Given the description of an element on the screen output the (x, y) to click on. 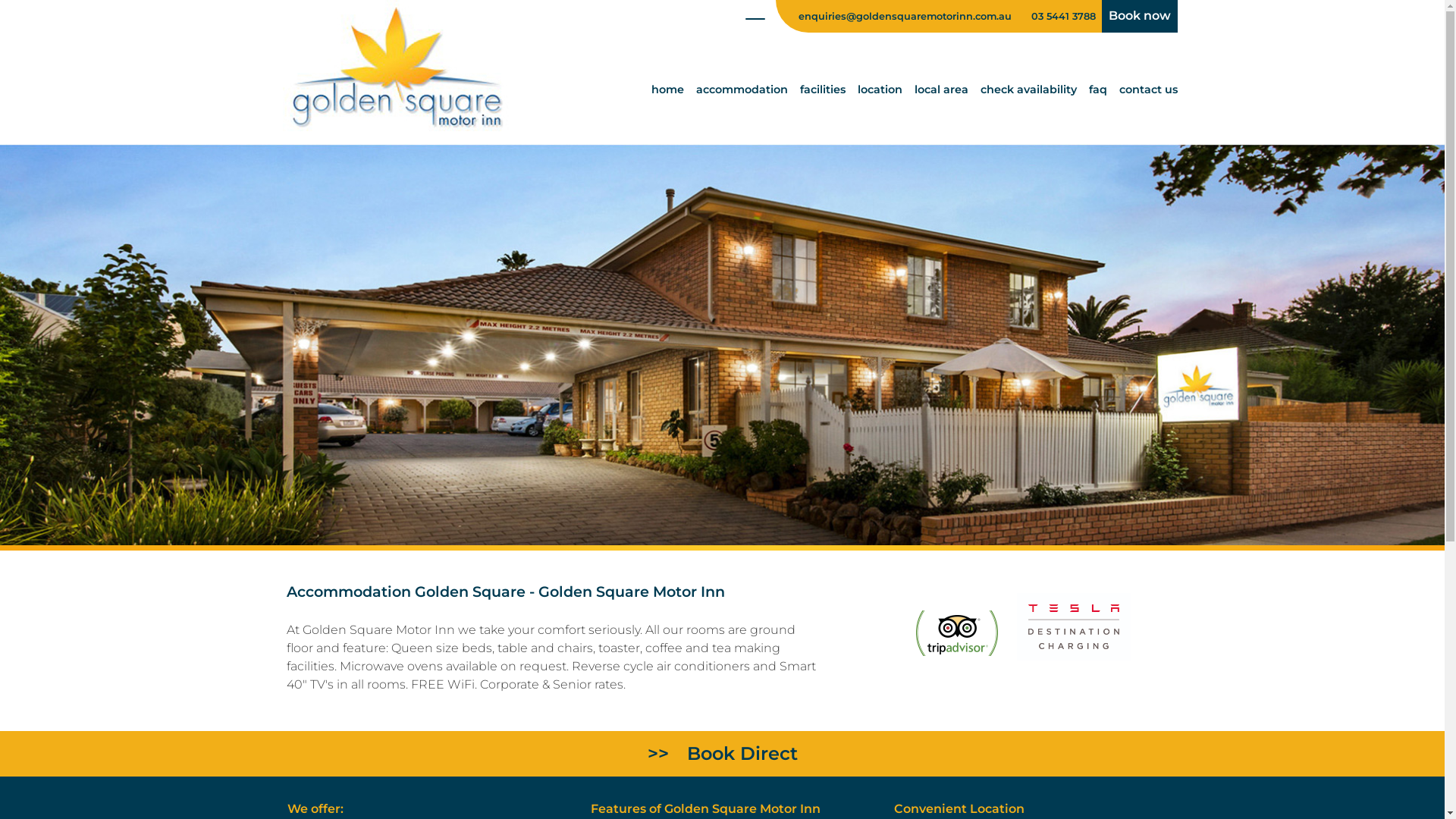
accommodation Element type: text (741, 89)
faq Element type: text (1097, 89)
contact us Element type: text (1148, 89)
check availability Element type: text (1027, 89)
facilities Element type: text (821, 89)
Book now Element type: text (1138, 16)
enquiries@goldensquaremotorinn.com.au Element type: text (897, 16)
Book Direct Element type: text (721, 753)
local area Element type: text (941, 89)
03 5441 3788 Element type: text (1062, 15)
location Element type: text (878, 89)
home Element type: text (666, 89)
